Given the description of an element on the screen output the (x, y) to click on. 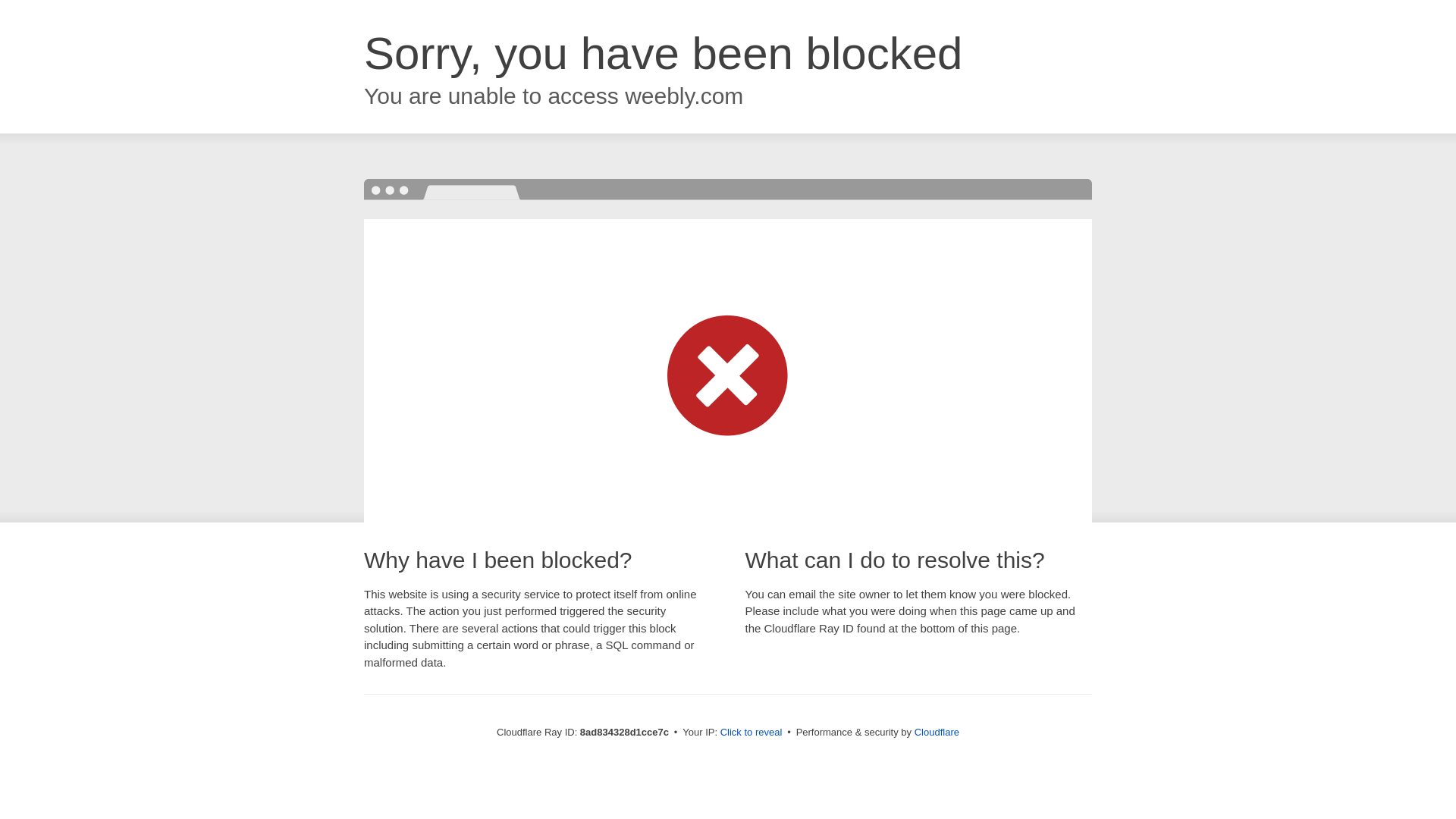
Click to reveal (751, 732)
Cloudflare (936, 731)
